Given the description of an element on the screen output the (x, y) to click on. 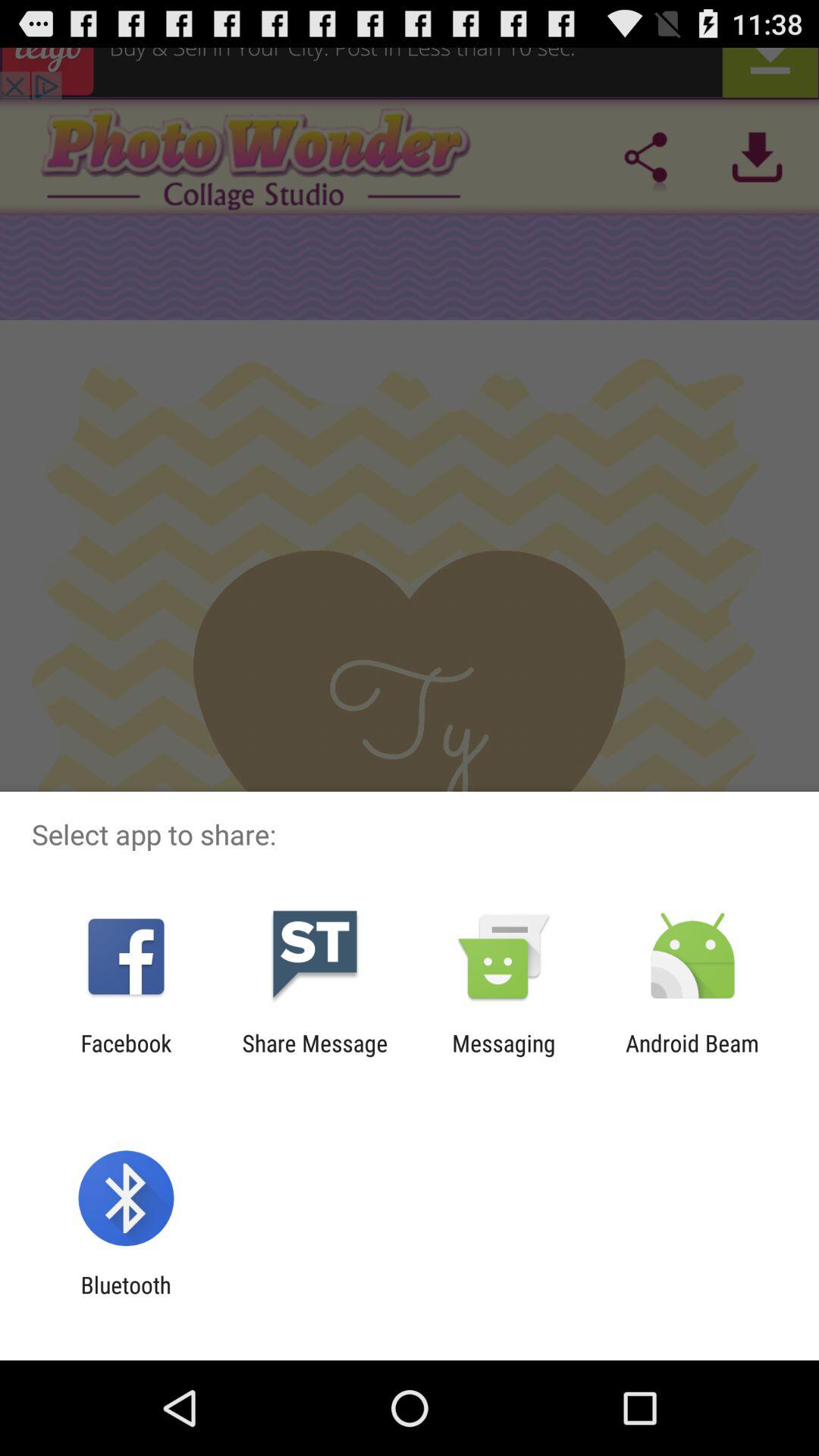
turn on icon next to the android beam app (503, 1056)
